Given the description of an element on the screen output the (x, y) to click on. 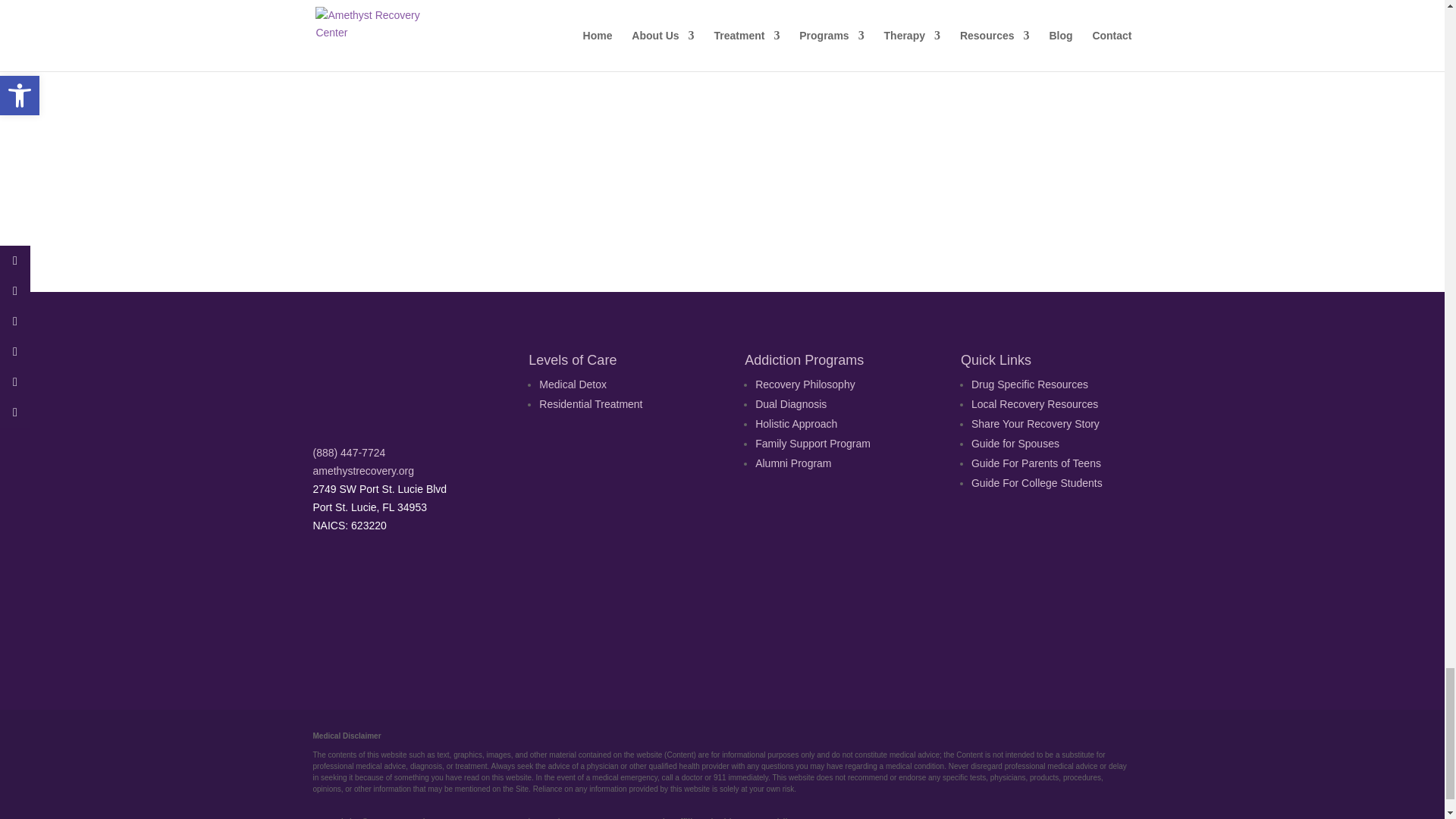
joint-commission-png-100 (506, 592)
dcf-logo2 (793, 592)
logo-light-sm (388, 387)
Verify LegitScript Approval (648, 623)
